Given the description of an element on the screen output the (x, y) to click on. 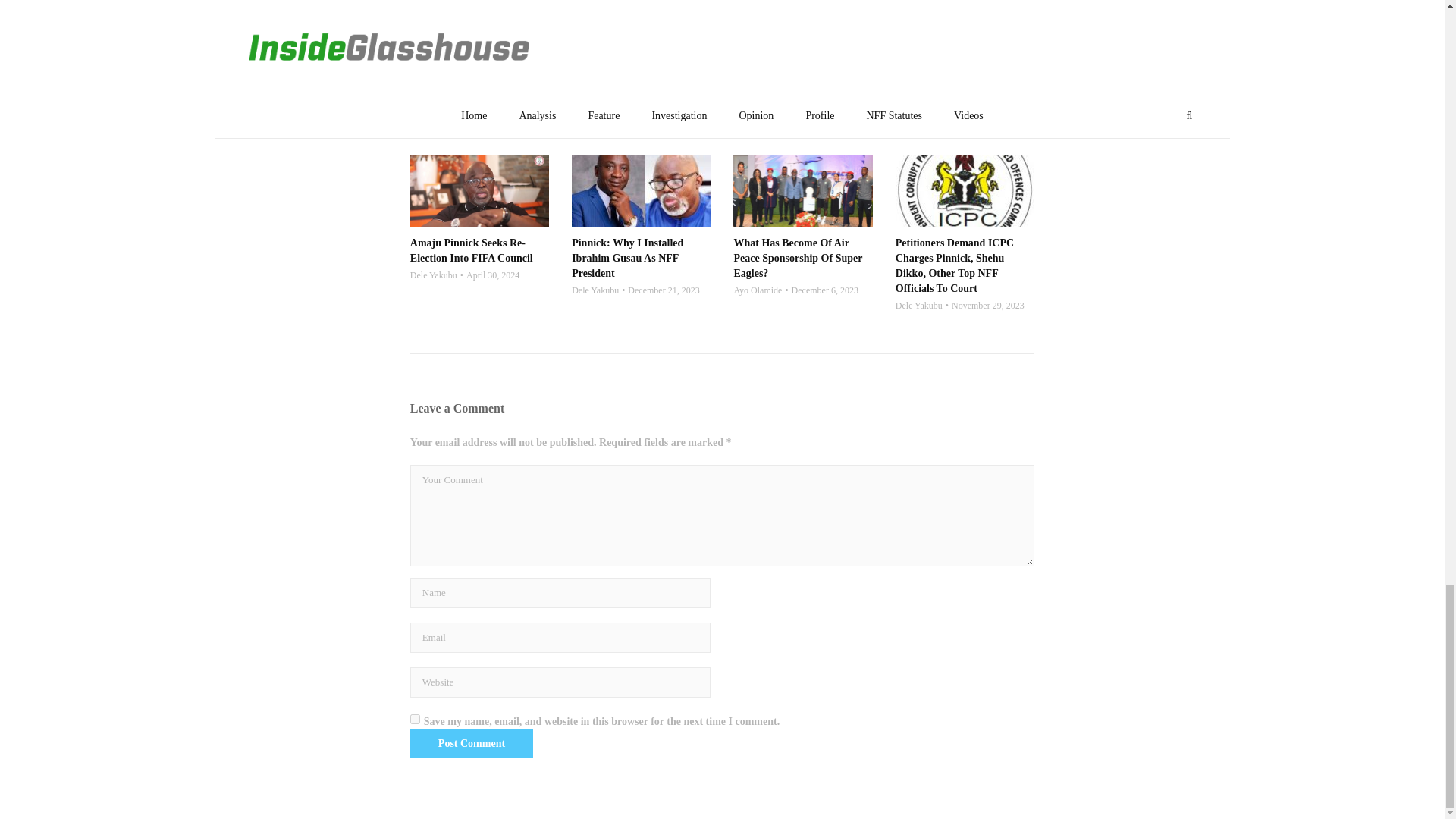
yes (415, 718)
Post Comment (471, 743)
